Given the description of an element on the screen output the (x, y) to click on. 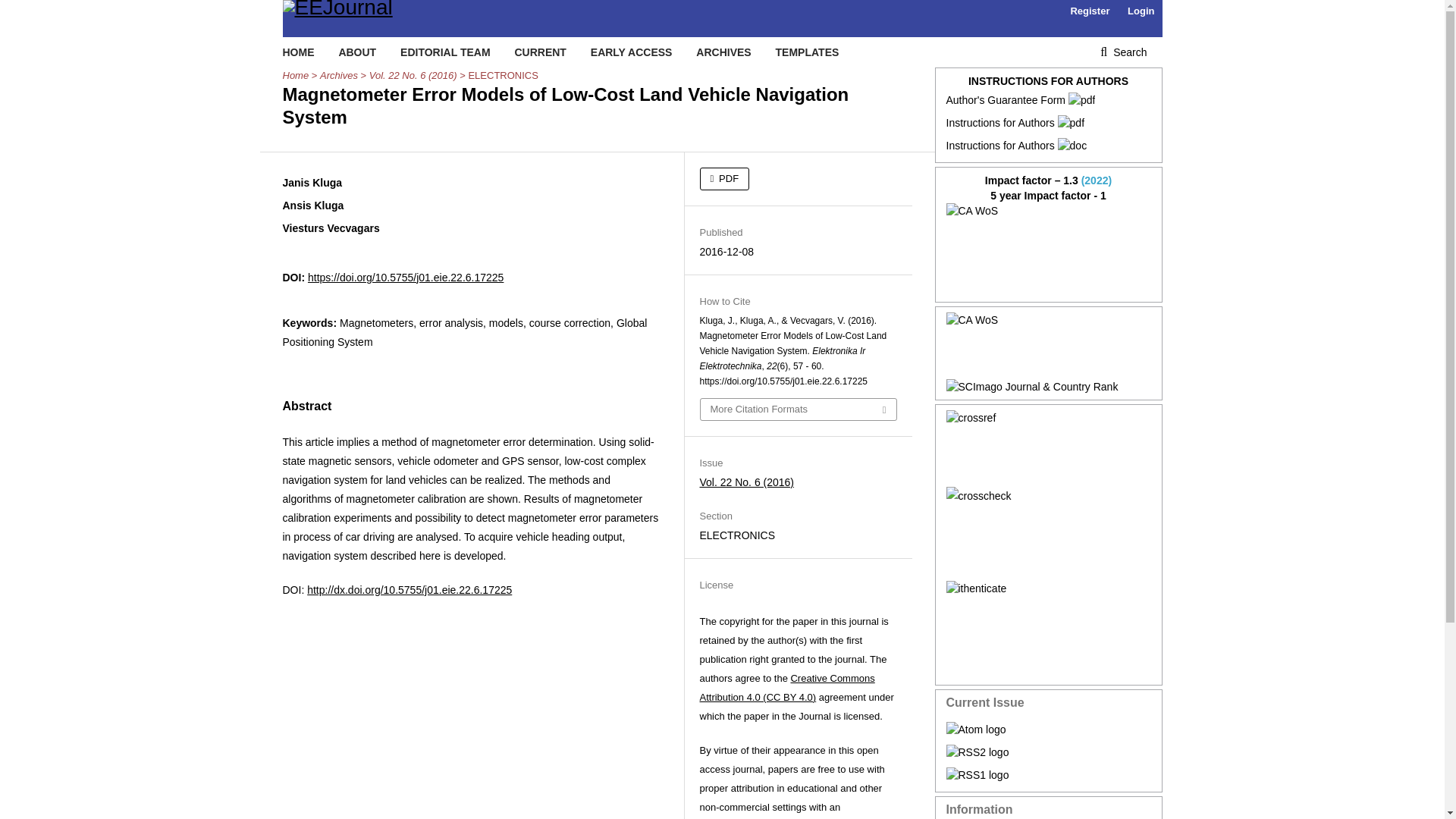
CURRENT (539, 51)
Journal: Elektronika Ir Elektrotechnika (1048, 346)
More Citation Formats (798, 409)
EARLY ACCESS (631, 51)
Archives (339, 75)
EDITORIAL TEAM (445, 51)
Register (1089, 11)
ARCHIVES (723, 51)
TEMPLATES (808, 51)
Journal: Elektronika Ir Elektrotechnika (1048, 249)
Login (1140, 11)
Search (1122, 51)
HOME (298, 51)
PDF (723, 178)
ABOUT (356, 51)
